Given the description of an element on the screen output the (x, y) to click on. 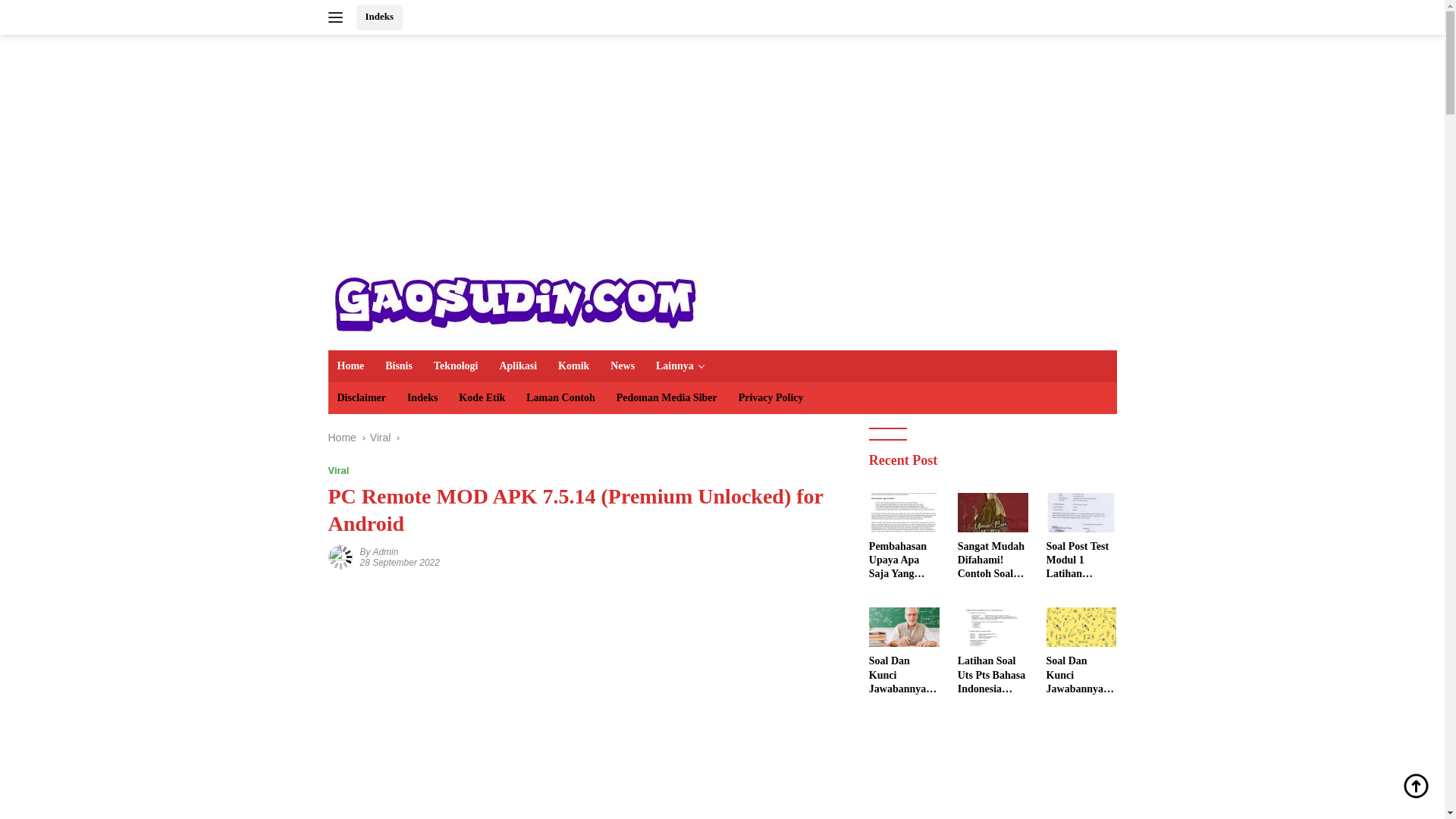
News (622, 366)
Bisnis (398, 366)
Lainnya (680, 366)
Home (341, 437)
Komik (573, 366)
Teknologi (456, 366)
Disclaimer (360, 398)
Privacy Policy (770, 398)
Indeks (379, 17)
